Given the description of an element on the screen output the (x, y) to click on. 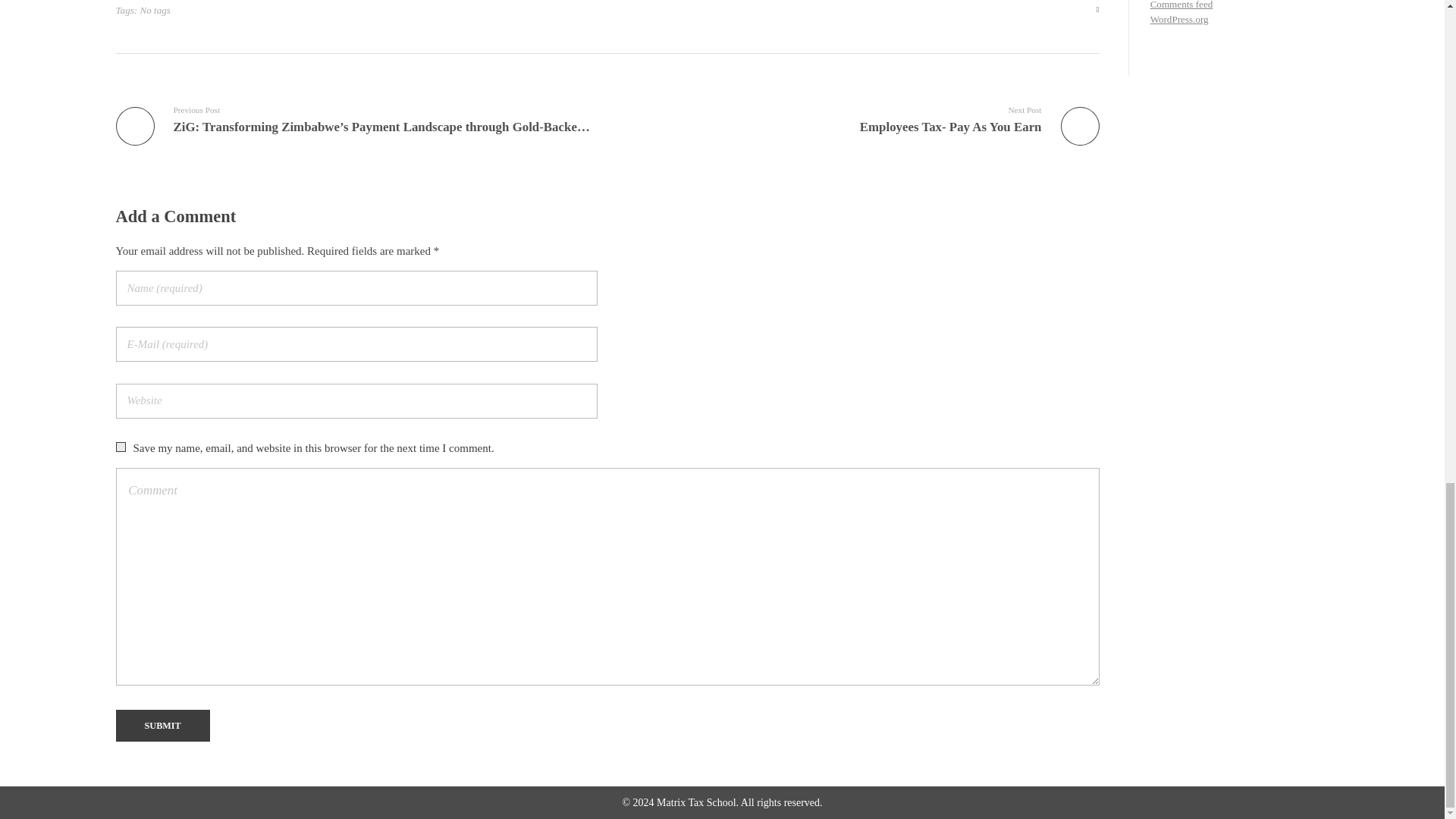
Submit (162, 726)
Submit (162, 726)
yes (120, 447)
